Given the description of an element on the screen output the (x, y) to click on. 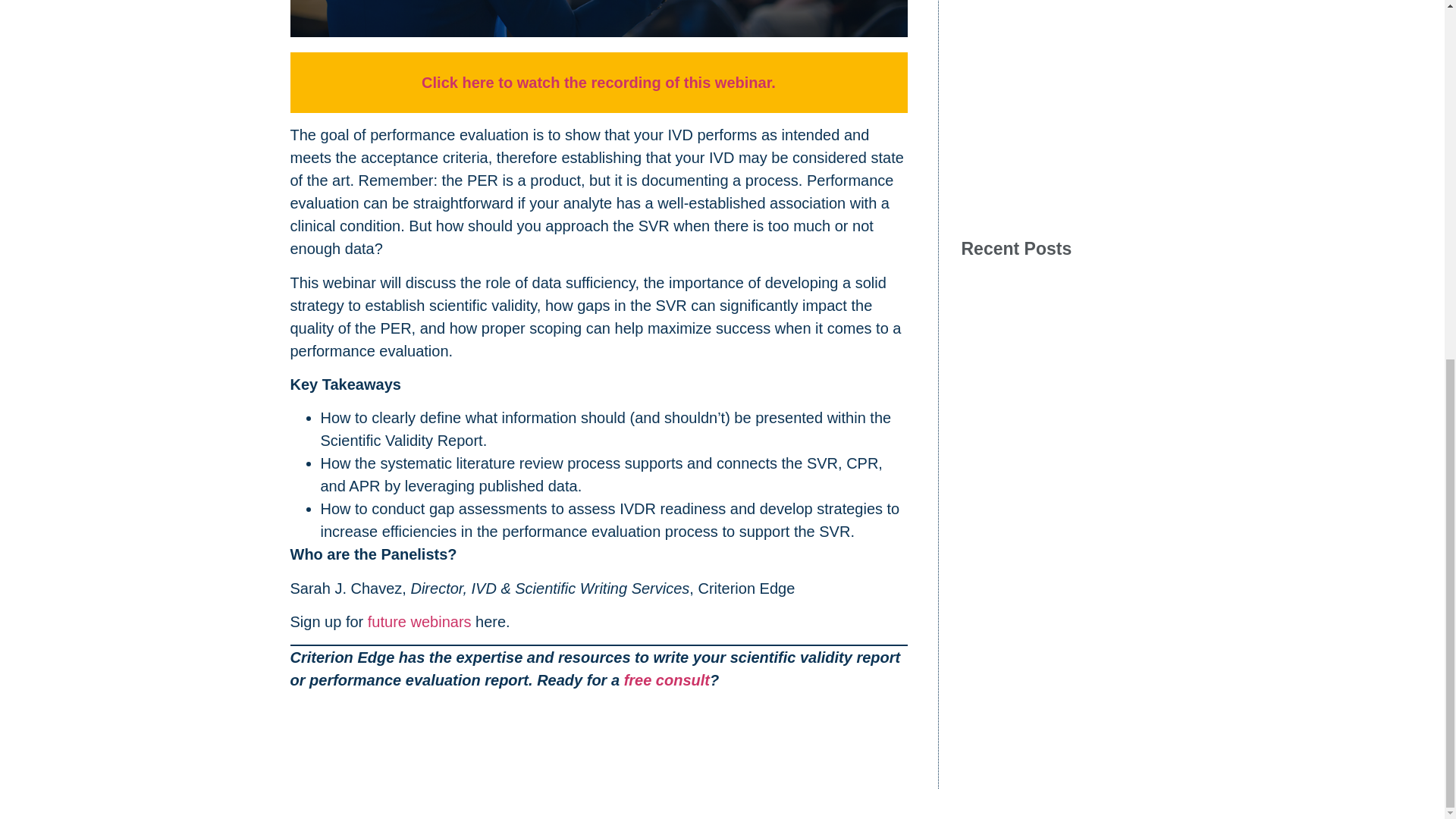
Click here to watch the recording of this webinar. (599, 82)
future webinars (422, 621)
free consult (667, 679)
